Given the description of an element on the screen output the (x, y) to click on. 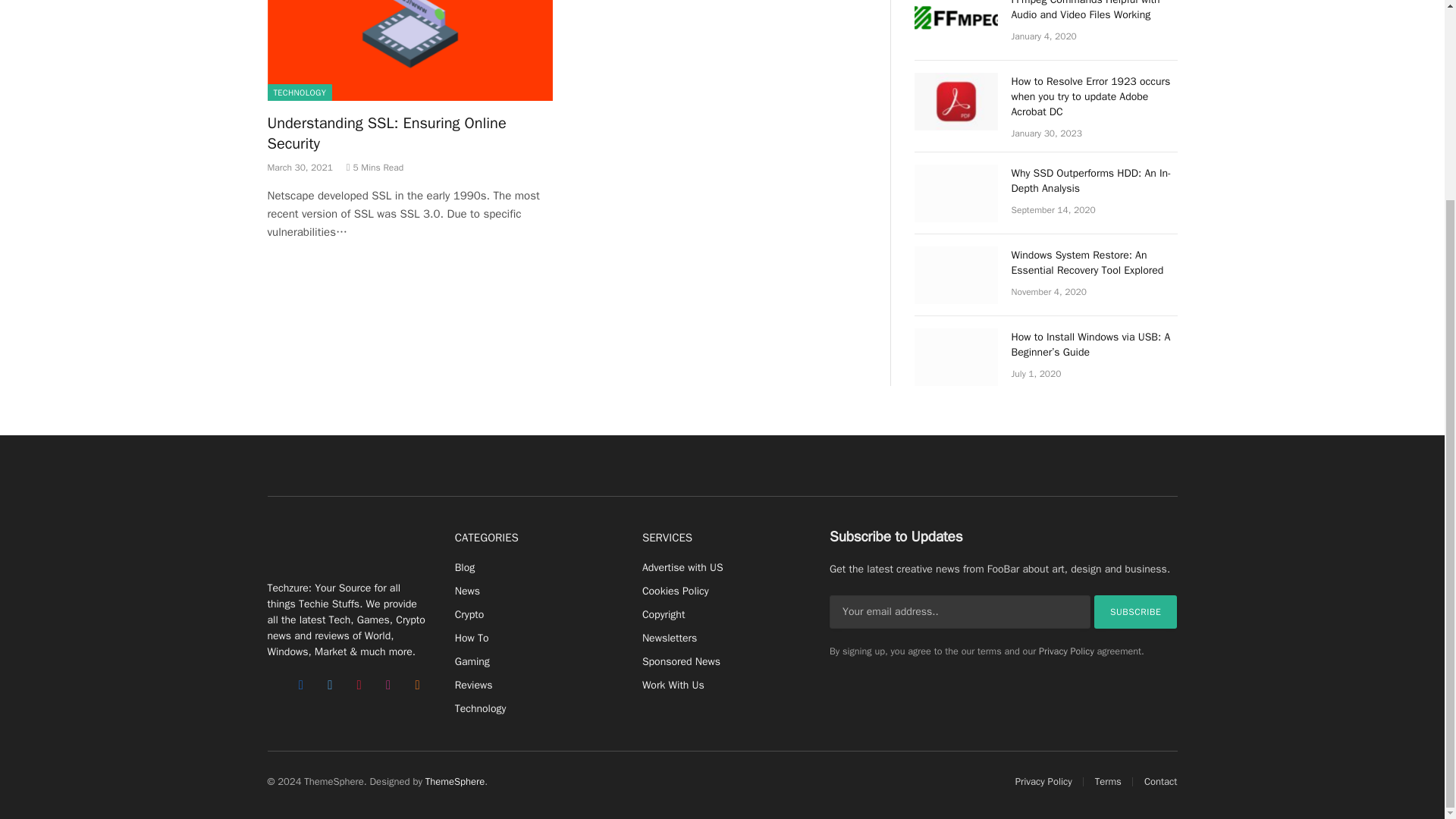
Subscribe (1135, 611)
